Given the description of an element on the screen output the (x, y) to click on. 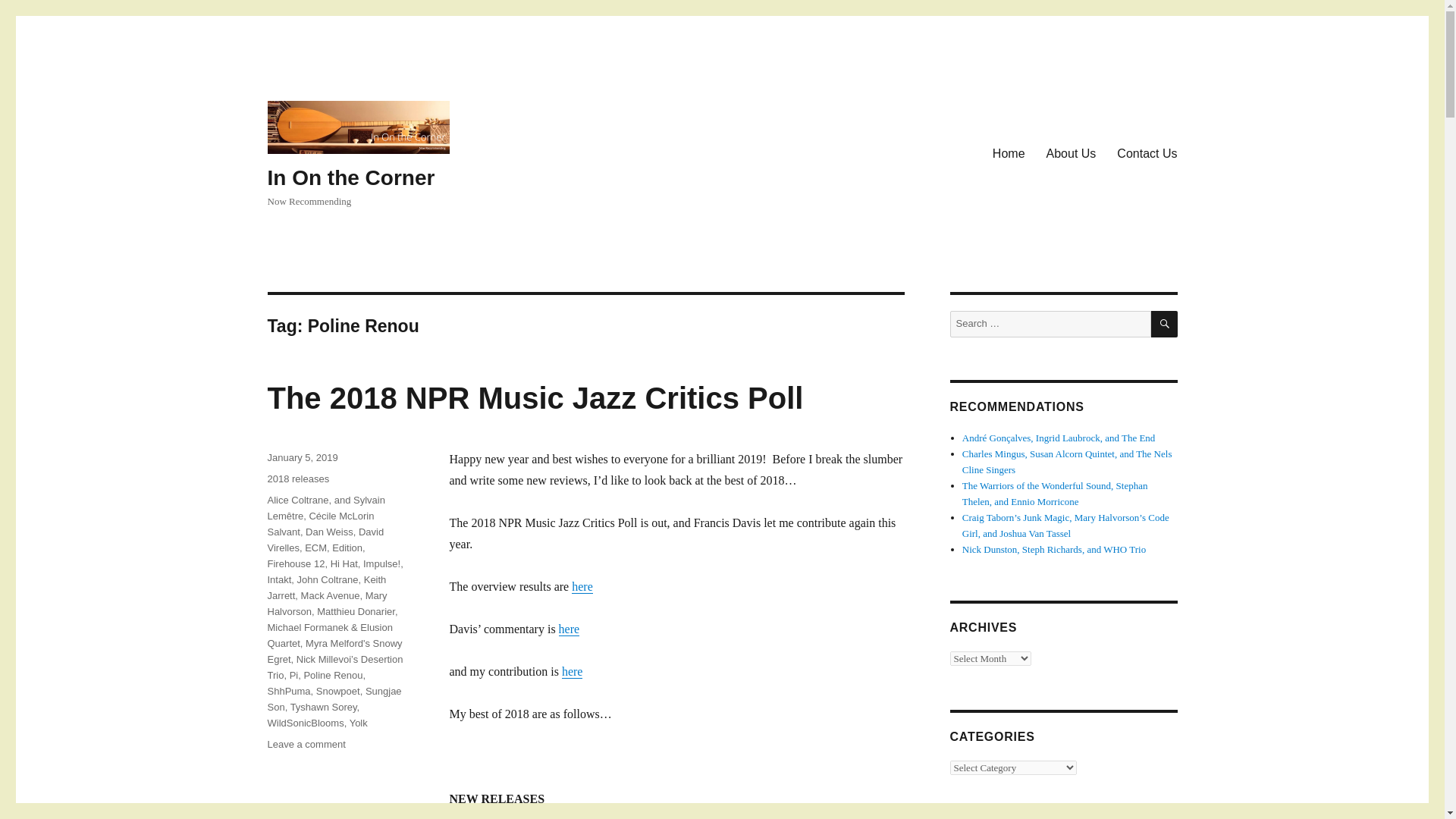
Dan Weiss (329, 531)
Myra Melford's Snowy Egret (333, 651)
Snowpoet (337, 690)
Firehouse 12 (295, 563)
Mary Halvorson (326, 603)
In On the Corner (349, 177)
Contact Us (1147, 153)
Home (1008, 153)
here (572, 671)
here (569, 628)
January 5, 2019 (301, 457)
The 2018 NPR Music Jazz Critics Poll (534, 397)
Hi Hat (344, 563)
About Us (1070, 153)
ECM (315, 547)
